Given the description of an element on the screen output the (x, y) to click on. 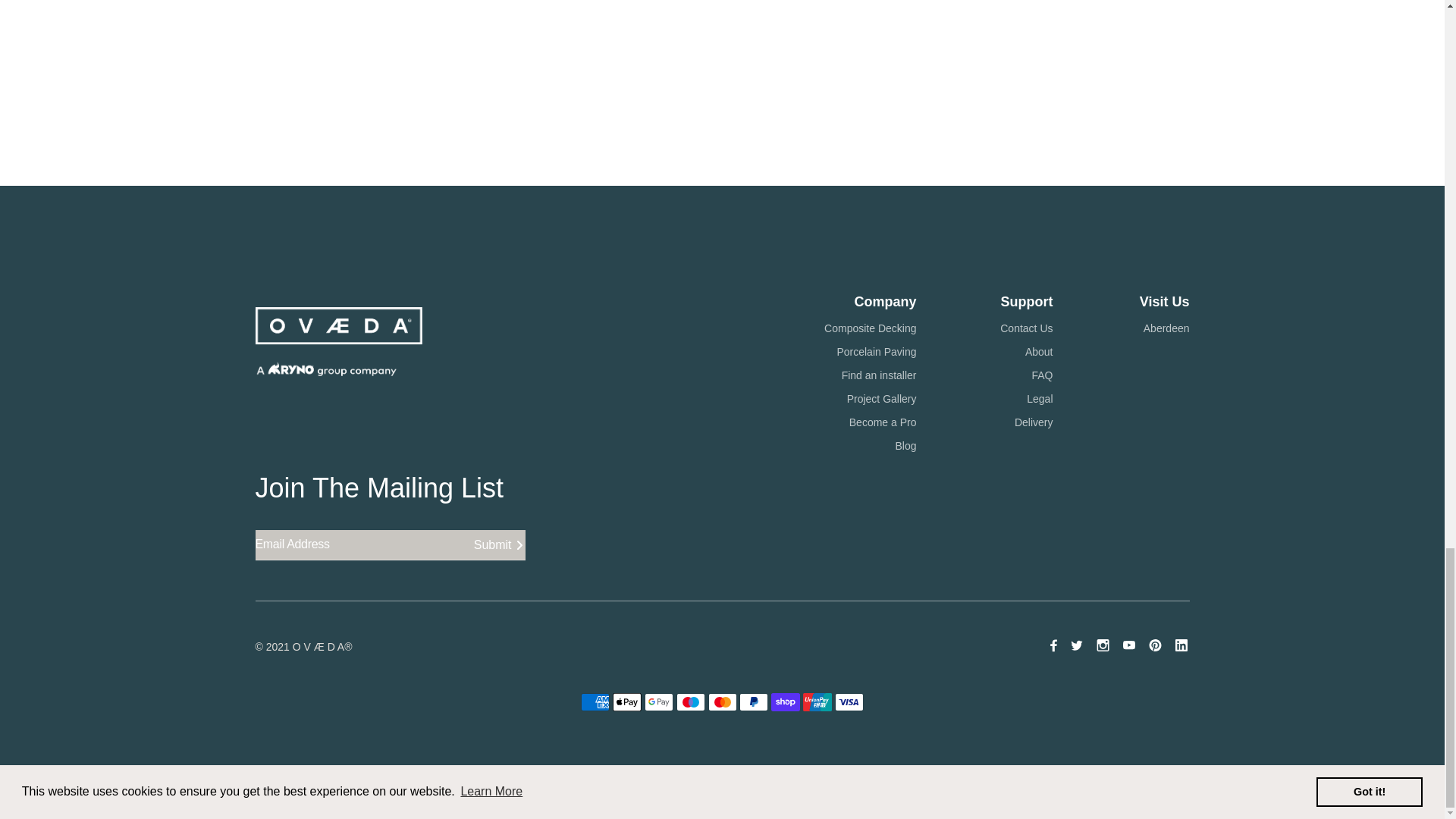
American Express (595, 701)
